Given the description of an element on the screen output the (x, y) to click on. 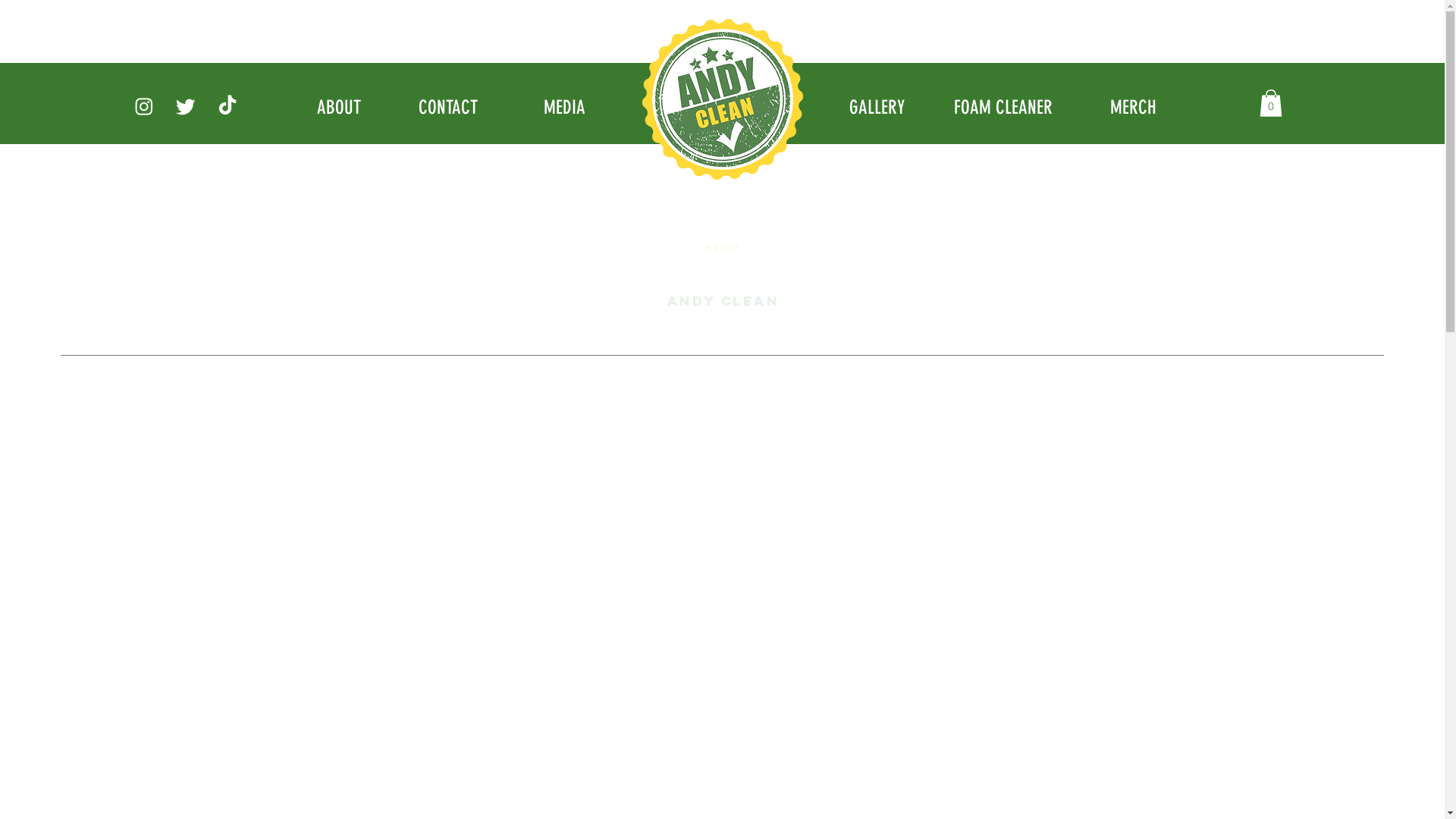
MERCH Element type: text (1133, 106)
CONTACT Element type: text (449, 106)
FOAM CLEANER Element type: text (1004, 106)
0 Element type: text (1269, 102)
GALLERY Element type: text (877, 106)
ABOUT Element type: text (340, 106)
MEDIA Element type: text (564, 106)
